Given the description of an element on the screen output the (x, y) to click on. 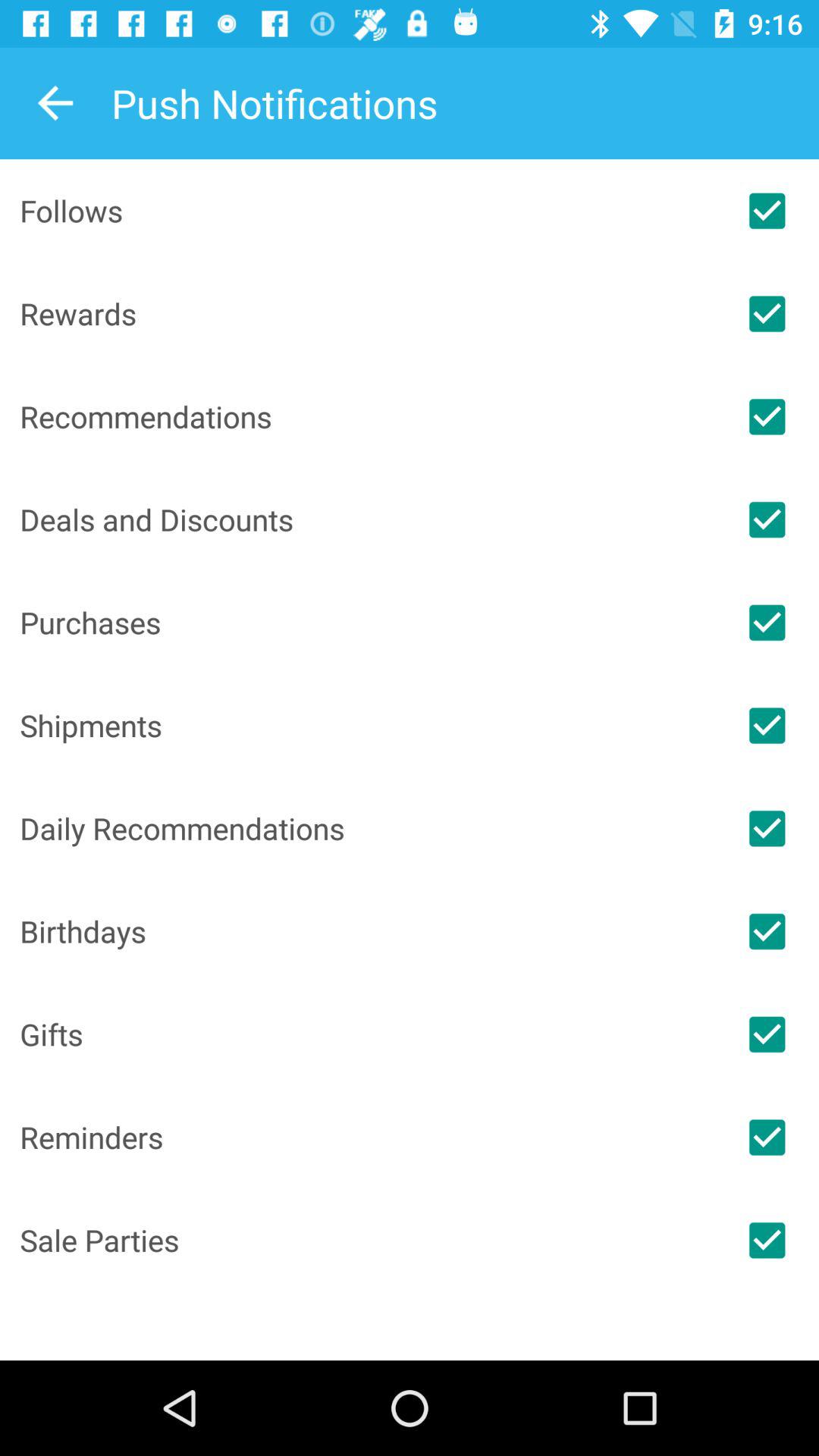
choose daily recommendations icon (367, 828)
